Given the description of an element on the screen output the (x, y) to click on. 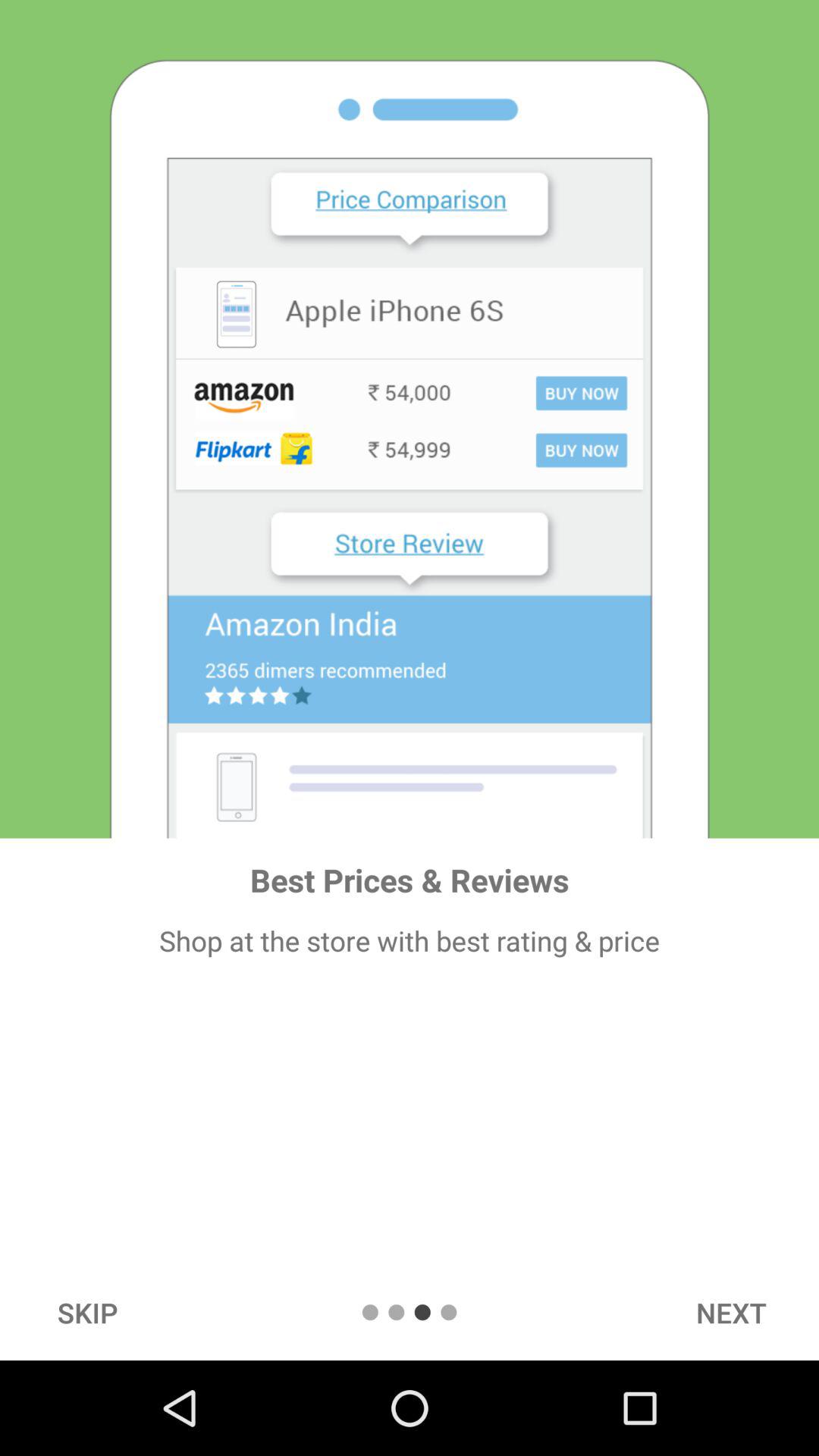
press icon at the bottom left corner (87, 1312)
